Given the description of an element on the screen output the (x, y) to click on. 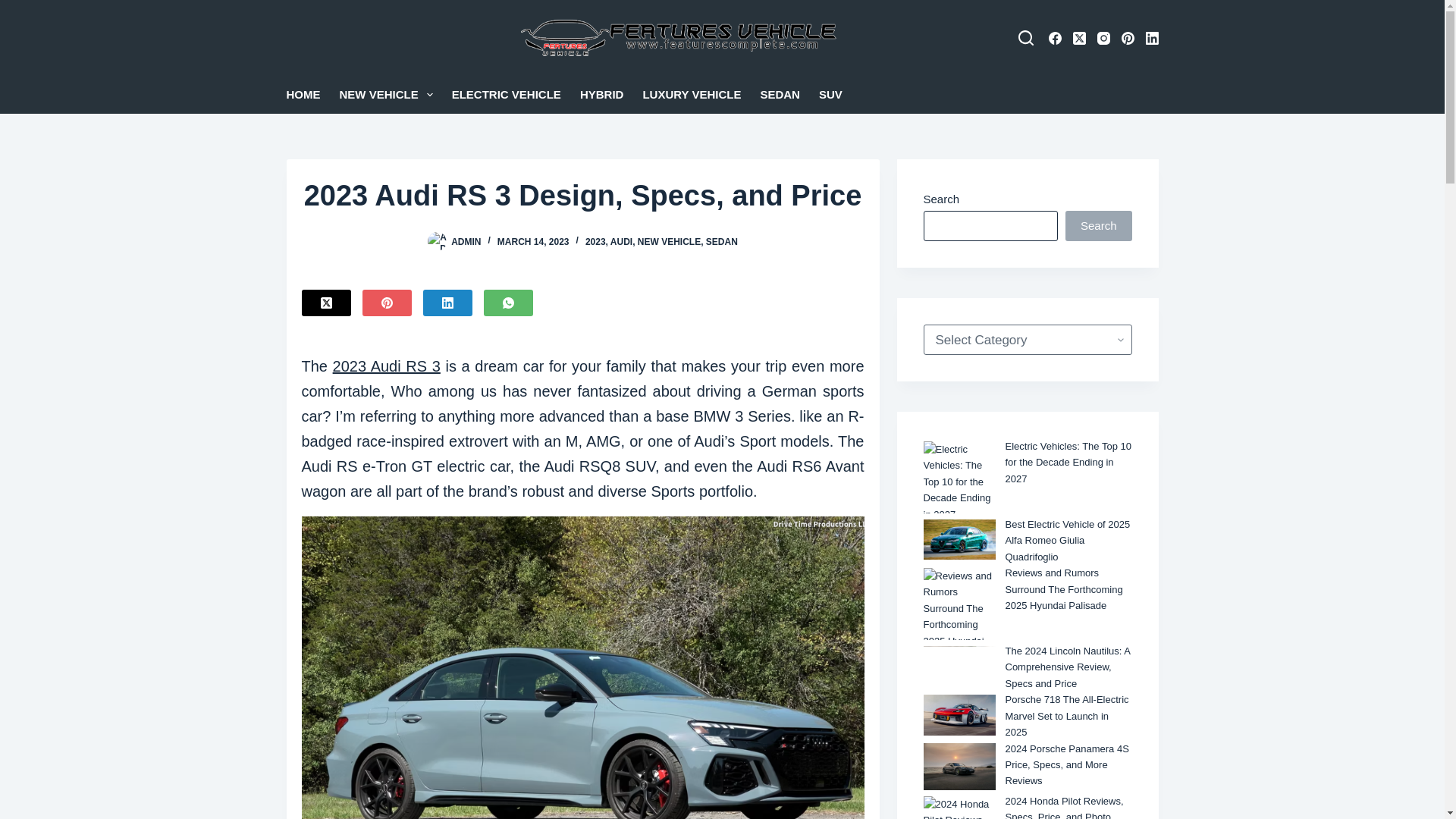
2023 (595, 241)
AUDI (620, 241)
NEW VEHICLE (386, 94)
Electric Vehicle (506, 94)
HOME (308, 94)
NEW VEHICLE (668, 241)
ELECTRIC VEHICLE (506, 94)
SEDAN (780, 94)
Posts by admin (465, 241)
